Given the description of an element on the screen output the (x, y) to click on. 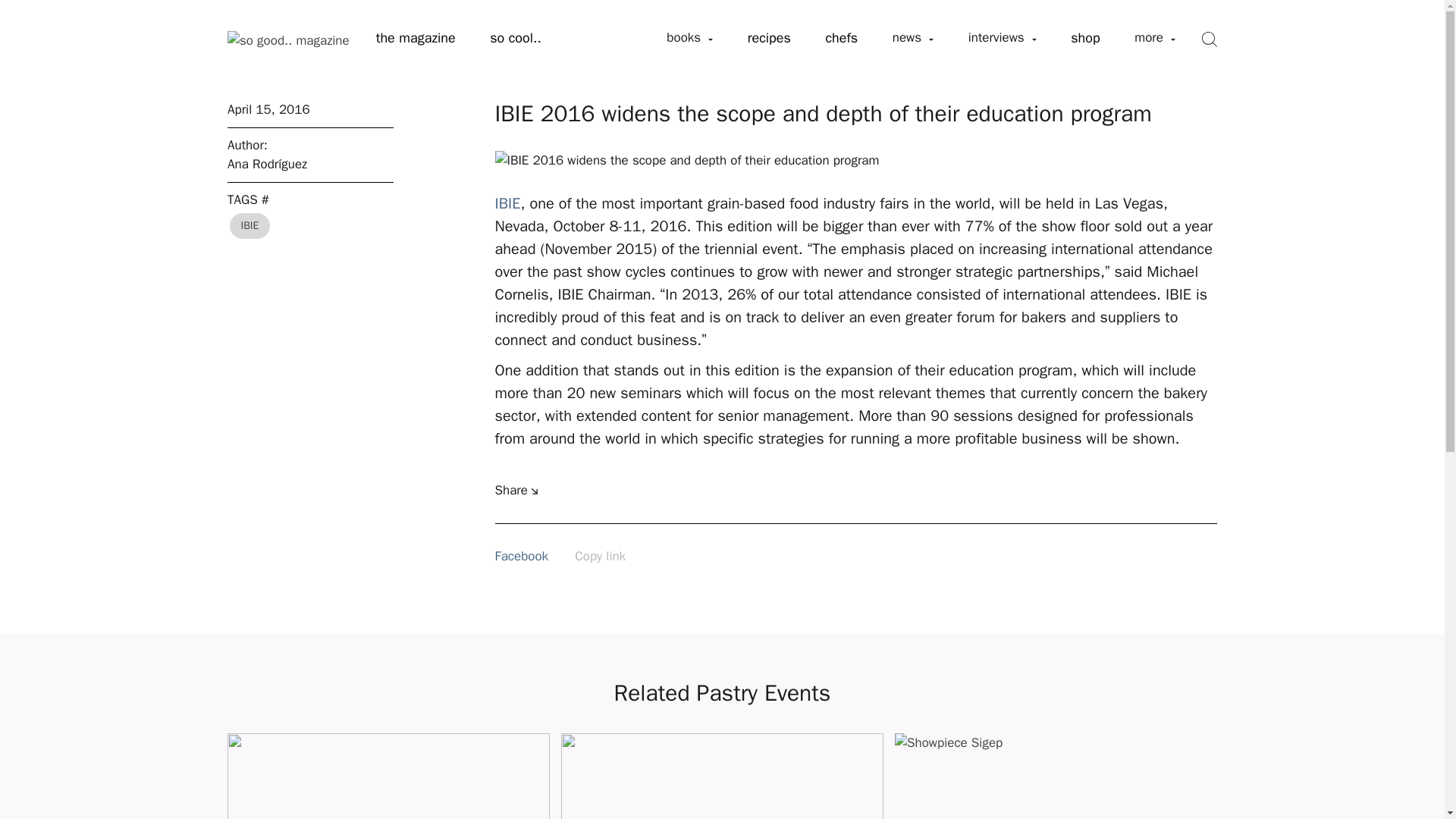
The Magazine (416, 38)
Copy link (600, 556)
Facebook (532, 555)
Pastry Recipes (769, 38)
IBIE (250, 225)
more (1155, 37)
Pastry Chefs (841, 38)
IBIE (507, 203)
recipes (769, 38)
chefs (841, 38)
